Given the description of an element on the screen output the (x, y) to click on. 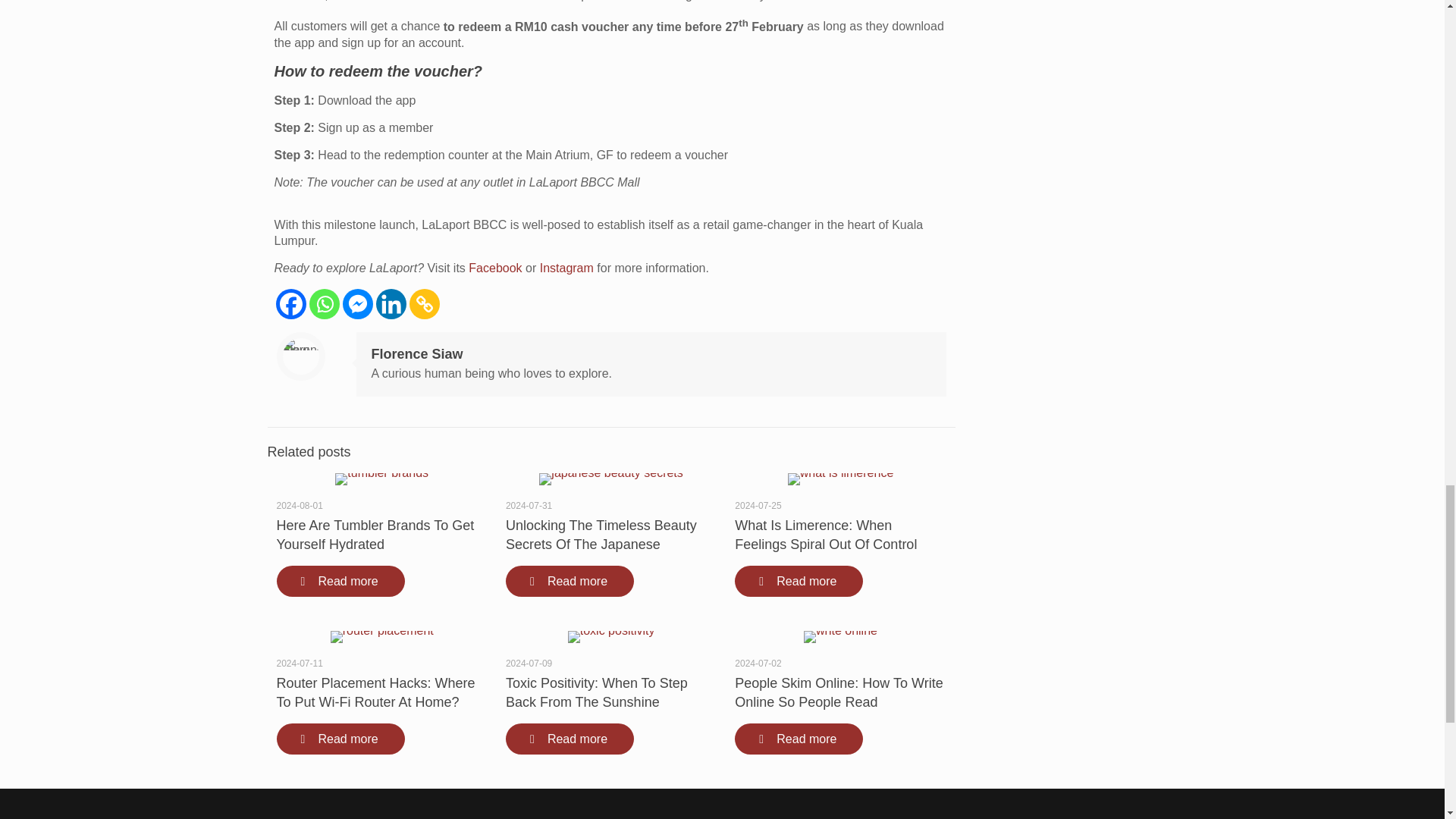
Read more (340, 581)
Facebook (290, 304)
Copy Link (424, 304)
Instagram (567, 267)
Here Are Tumbler Brands To Get Yourself Hydrated (375, 534)
Florence Siaw (417, 353)
Linkedin (390, 304)
Facebook (494, 267)
Whatsapp (323, 304)
